Given the description of an element on the screen output the (x, y) to click on. 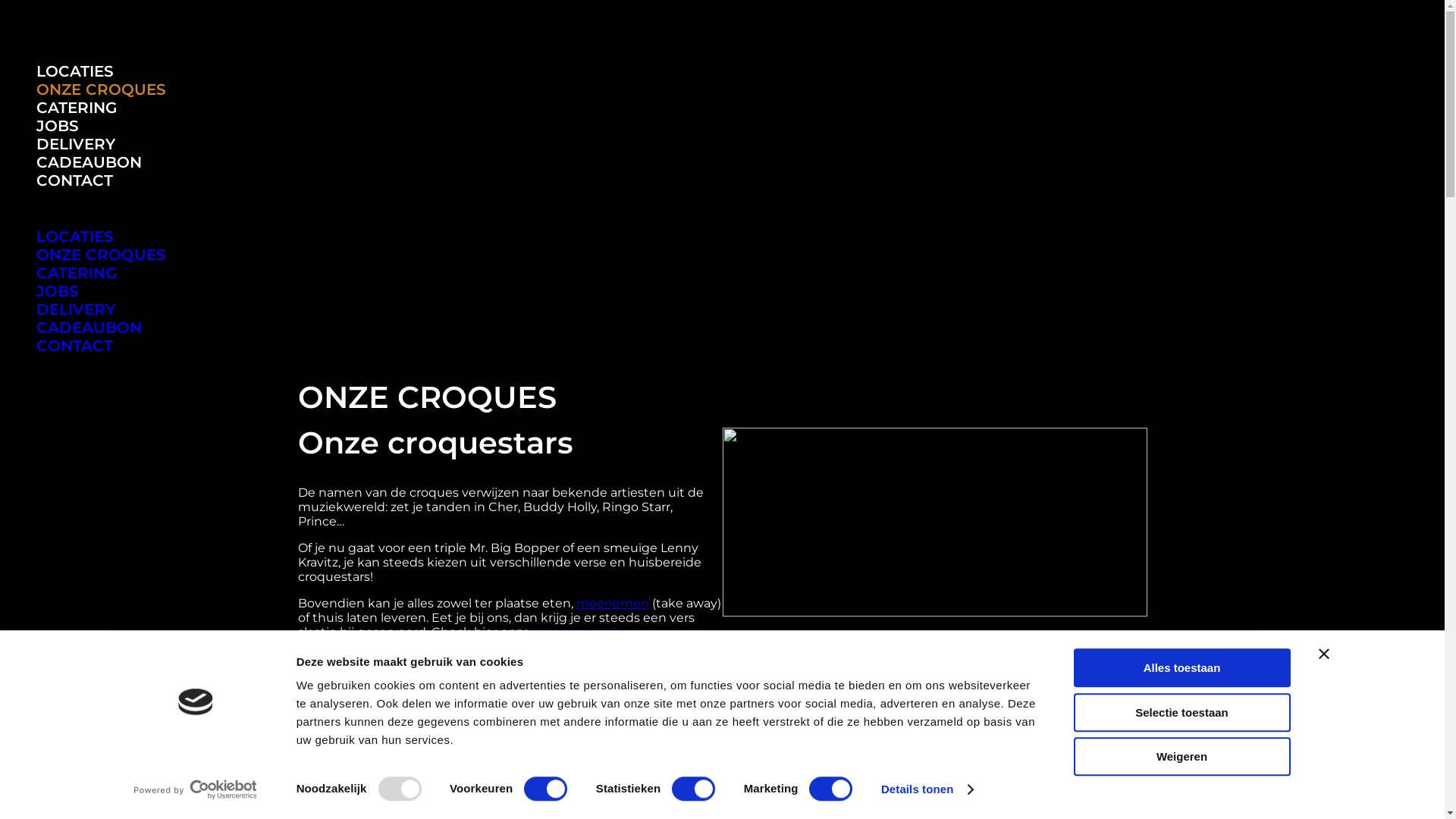
CONTACT Element type: text (74, 345)
Selectie toestaan Element type: text (1181, 712)
DELIVERY Element type: text (75, 143)
CONTACT Element type: text (74, 180)
LOCATIES Element type: text (74, 71)
Details tonen Element type: text (926, 789)
CATERING Element type: text (76, 107)
ONZE CROQUES Element type: text (101, 254)
meenemen Element type: text (612, 603)
JOBS Element type: text (57, 125)
LOCATIES Element type: text (74, 236)
Weigeren Element type: text (1181, 756)
CADEAUBON Element type: text (88, 327)
Alles toestaan Element type: text (1181, 667)
JOBS Element type: text (57, 291)
DELIVERY Element type: text (75, 309)
Mick Jagger Element type: hover (506, 733)
CADEAUBON Element type: text (88, 162)
ONZE CROQUES Element type: text (101, 89)
CATERING Element type: text (76, 272)
